Given the description of an element on the screen output the (x, y) to click on. 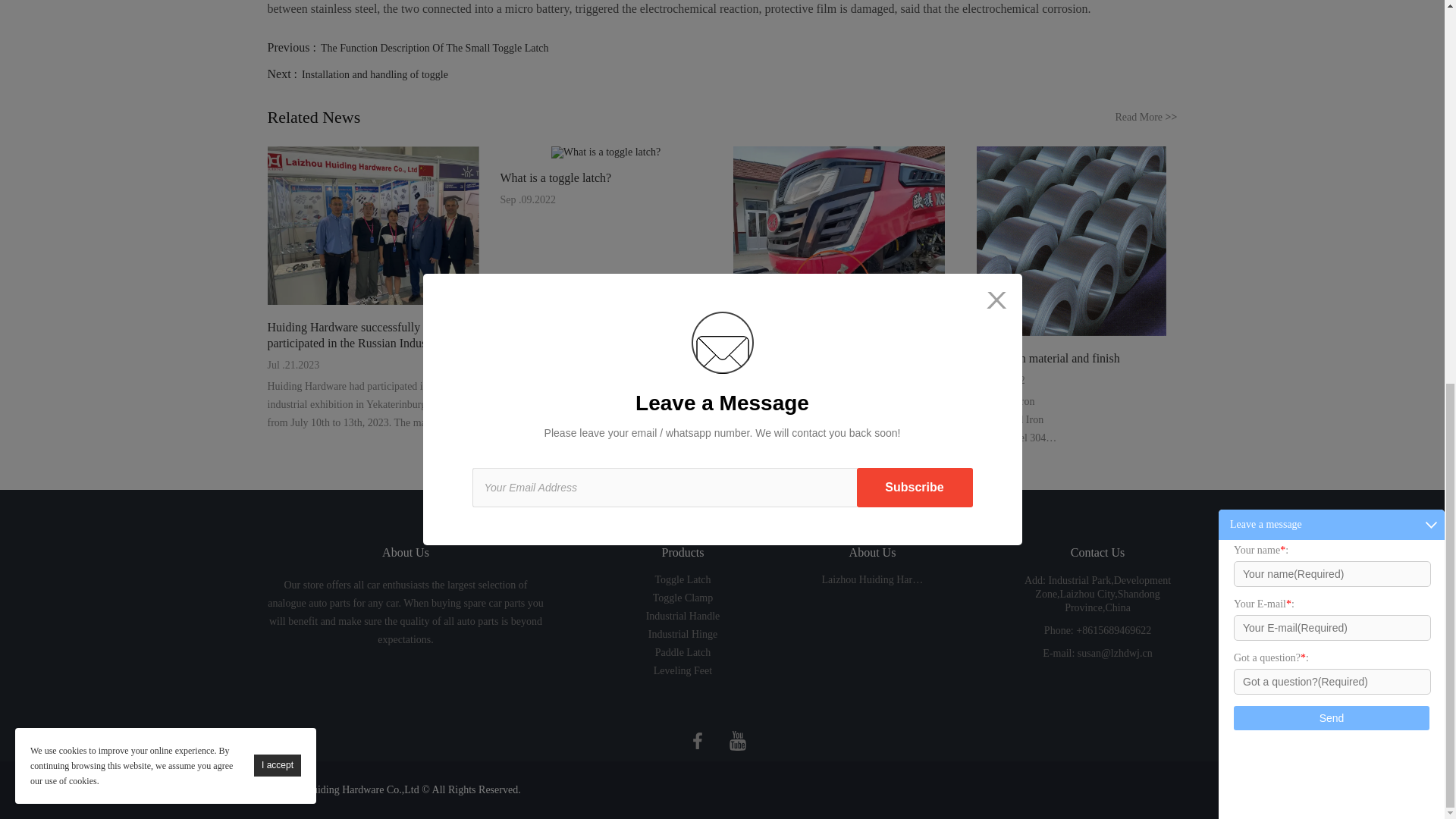
Send (1331, 5)
I accept (277, 46)
